Given the description of an element on the screen output the (x, y) to click on. 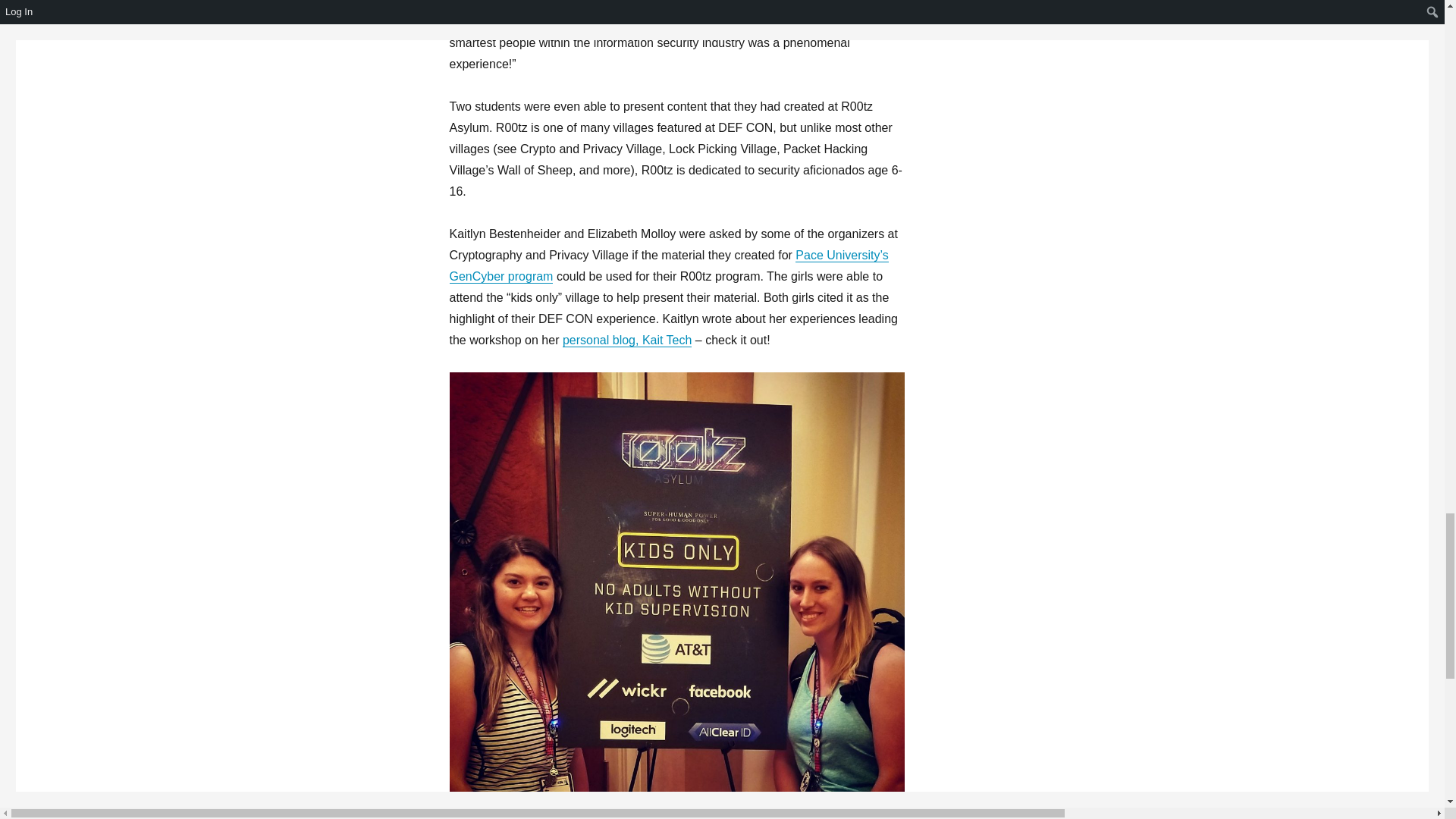
personal blog, Kait Tech (626, 339)
